Given the description of an element on the screen output the (x, y) to click on. 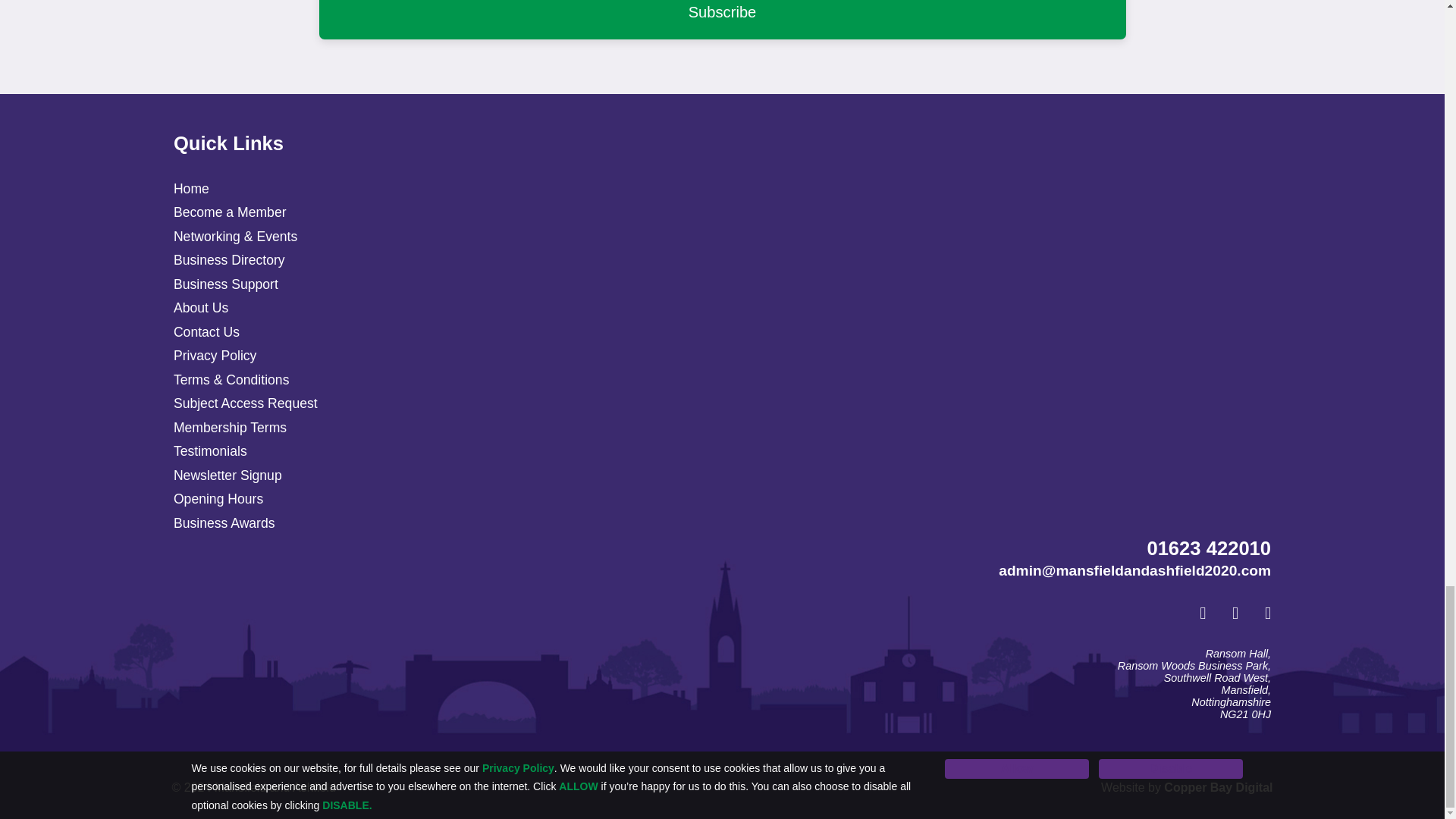
Subscribe (721, 19)
Home (191, 188)
Opens in a new window (1190, 614)
Subscribe (721, 19)
Opens in a new window (1256, 614)
Become a Member (229, 212)
Opens in a new window (1224, 614)
Opens in a new window (1217, 787)
